Given the description of an element on the screen output the (x, y) to click on. 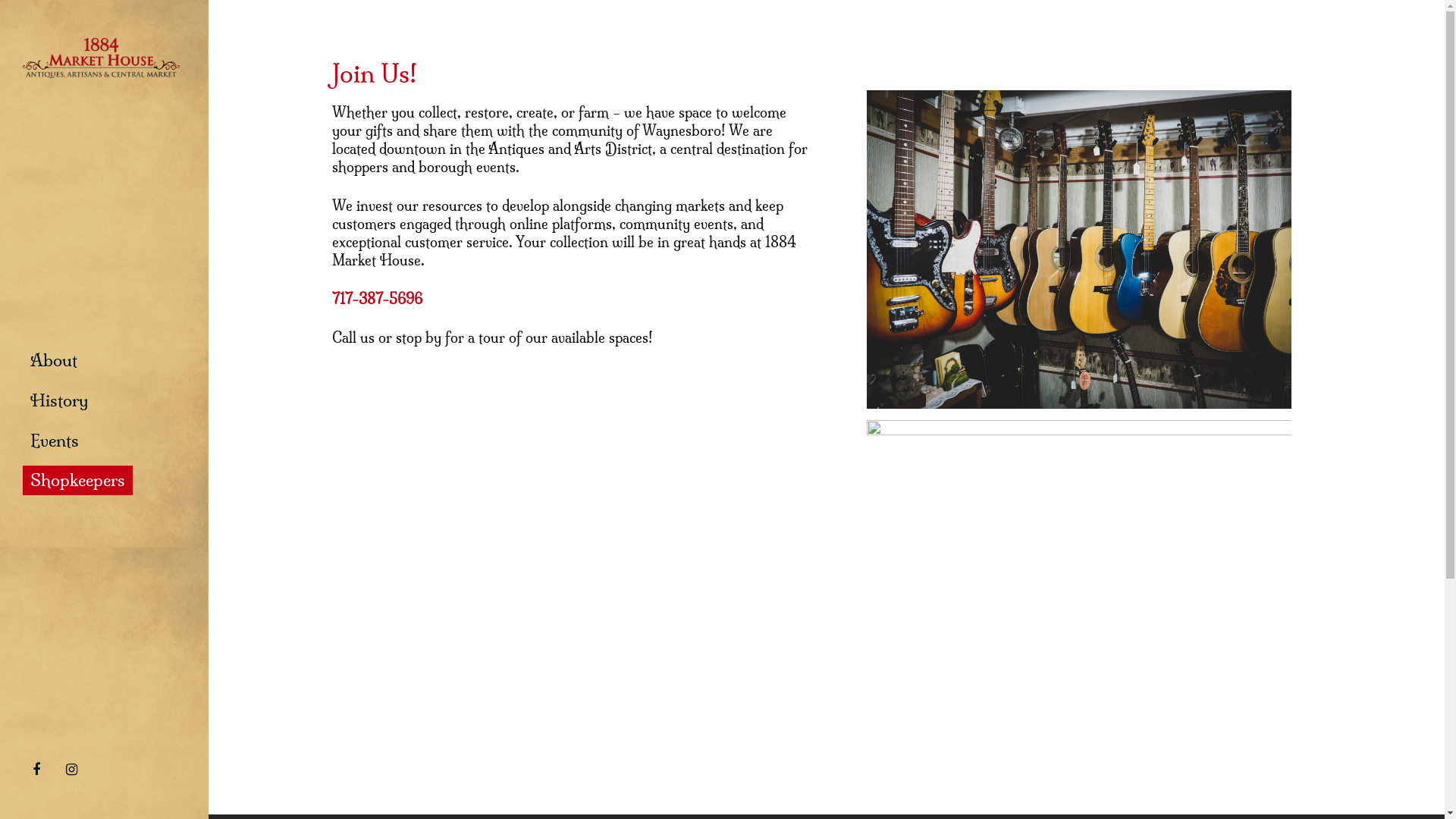
About Element type: text (53, 360)
Events Element type: text (54, 440)
History Element type: text (58, 400)
717-387-5696 Element type: text (377, 298)
Shopkeepers Element type: text (77, 480)
